Given the description of an element on the screen output the (x, y) to click on. 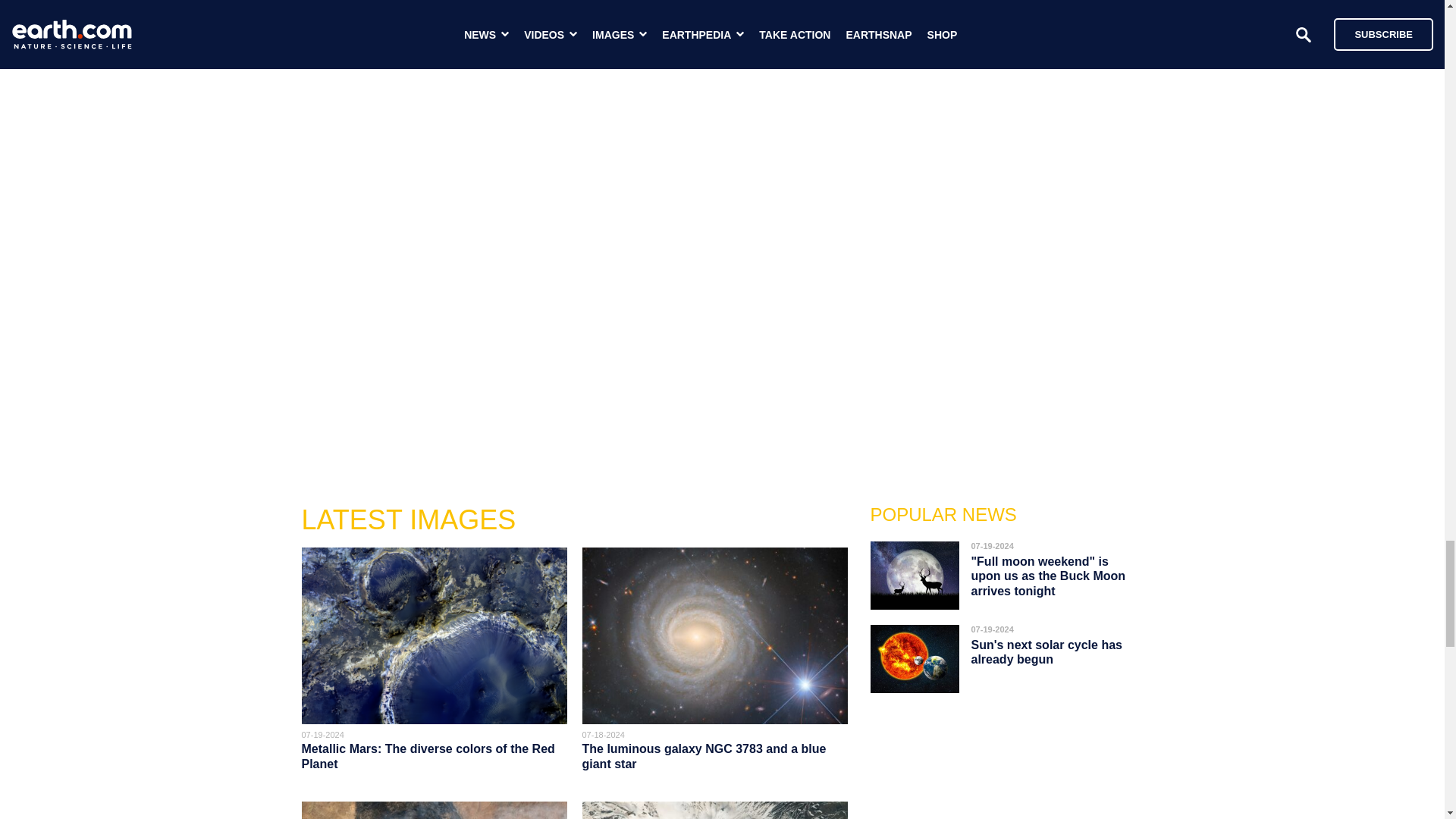
The luminous galaxy NGC 3783 and a blue giant star (704, 755)
Metallic Mars: The diverse colors of the Red Planet (427, 755)
